Given the description of an element on the screen output the (x, y) to click on. 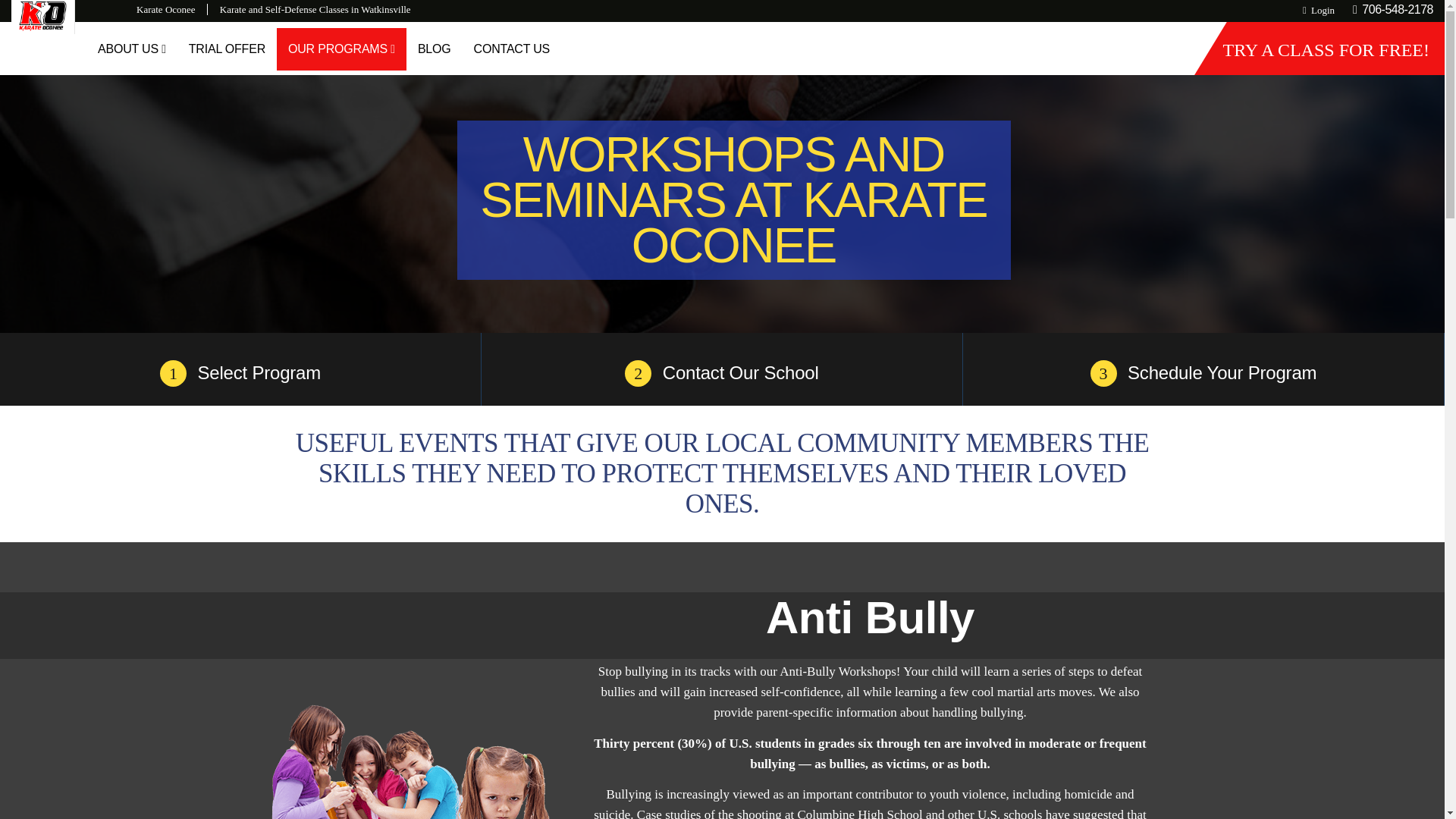
Login (1319, 9)
BLOG (434, 48)
CONTACT US (512, 48)
TRIAL OFFER (226, 48)
OUR PROGRAMS (341, 48)
Karate Oconee (172, 9)
ABOUT US (131, 48)
